Given the description of an element on the screen output the (x, y) to click on. 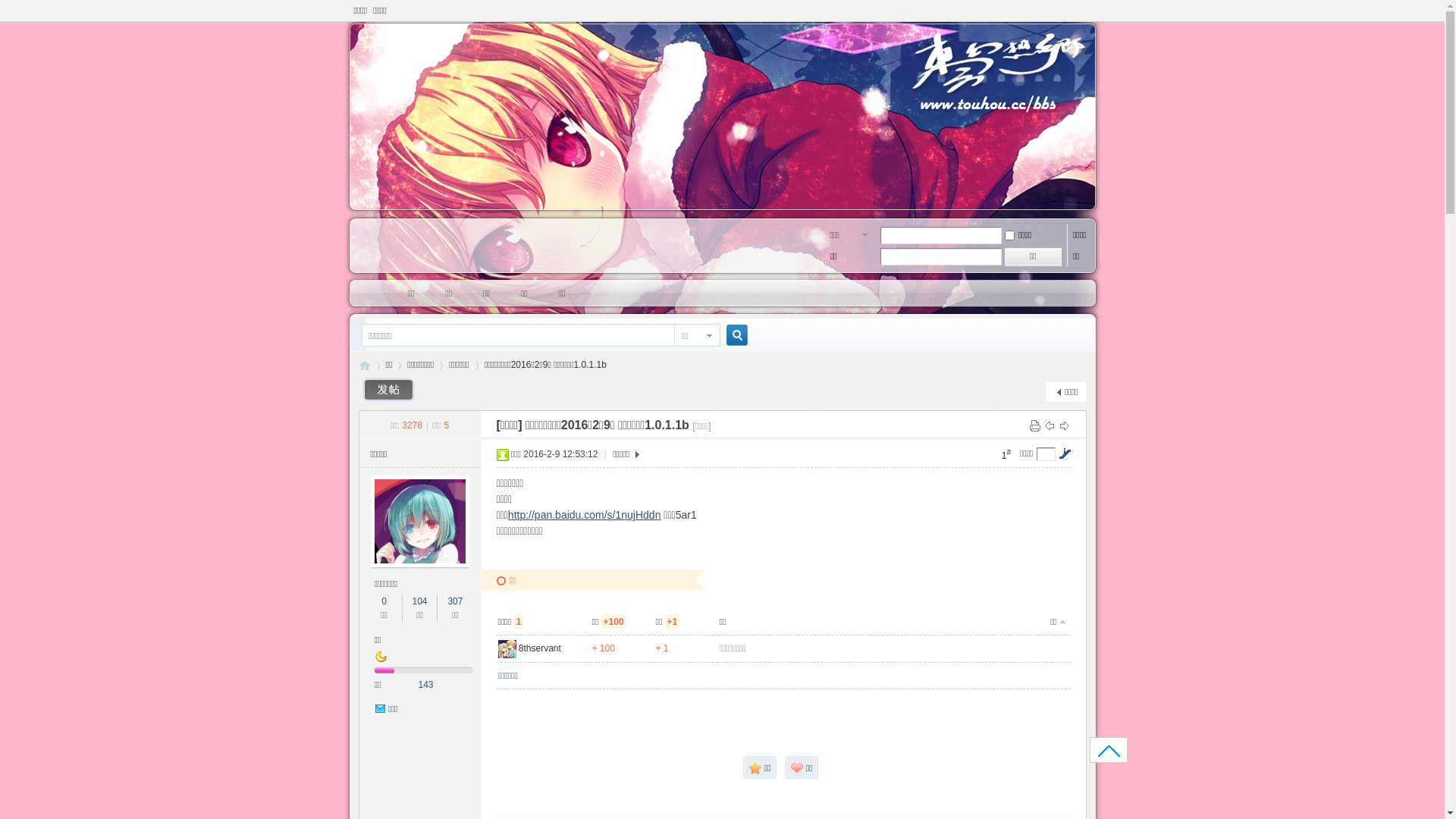
true Element type: text (731, 335)
http://pan.baidu.com/s/1nujHddn Element type: text (584, 514)
307 Element type: text (454, 601)
0 Element type: text (383, 601)
104 Element type: text (418, 601)
1# Element type: text (1006, 454)
143 Element type: text (425, 684)
8thservant Element type: text (539, 648)
